Given the description of an element on the screen output the (x, y) to click on. 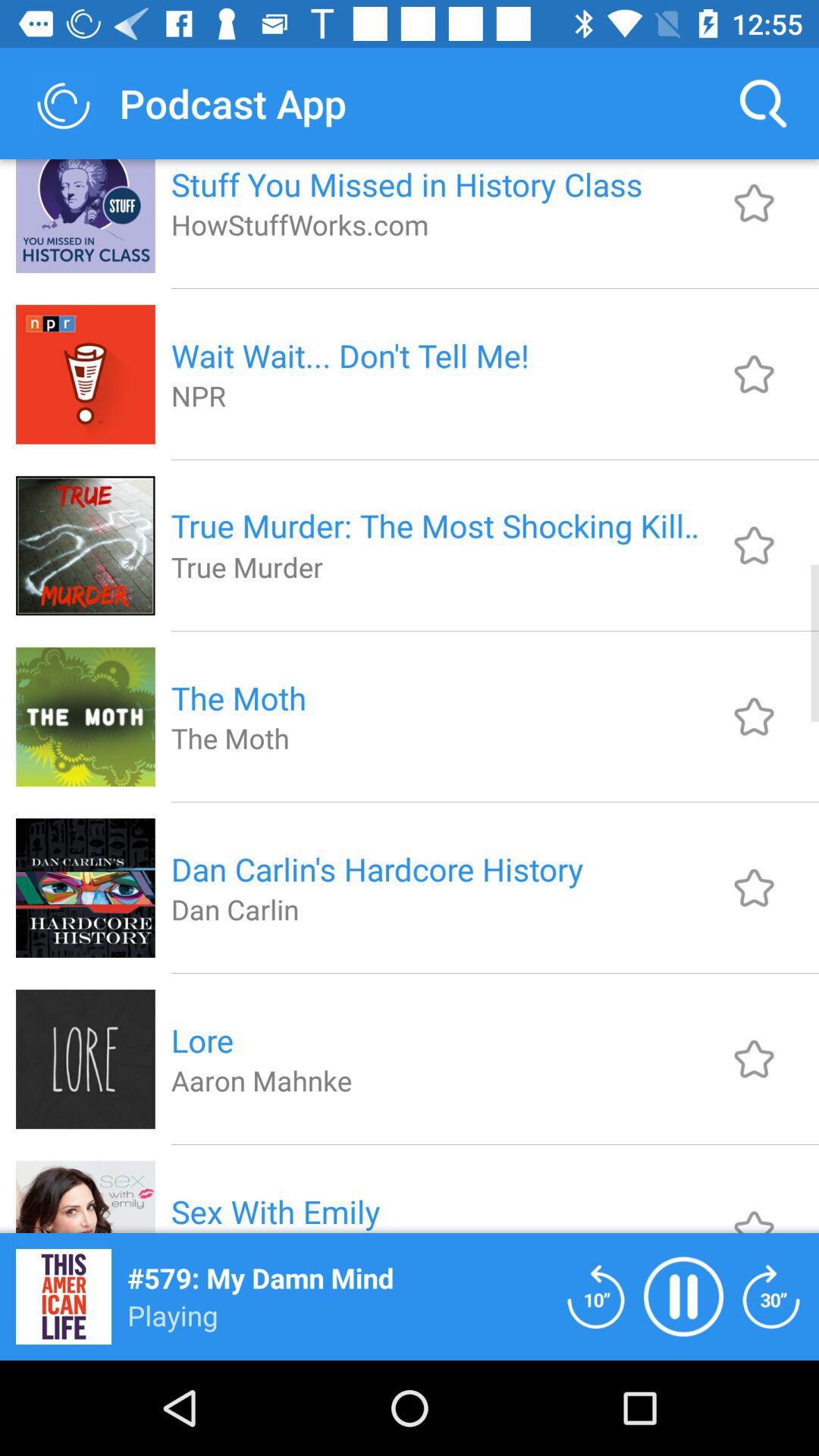
add to queue (754, 887)
